Given the description of an element on the screen output the (x, y) to click on. 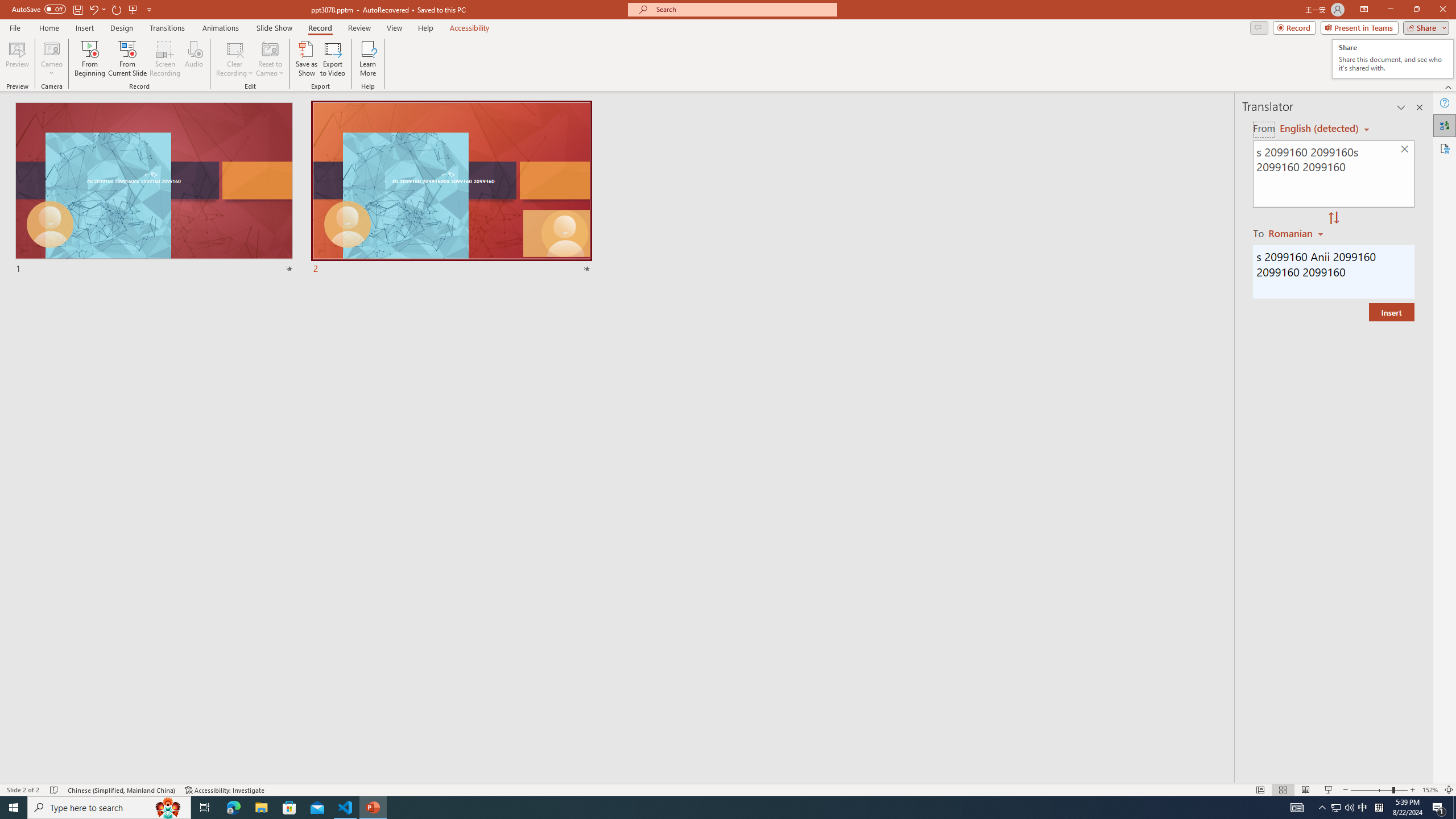
Zoom 152% (1430, 790)
